Given the description of an element on the screen output the (x, y) to click on. 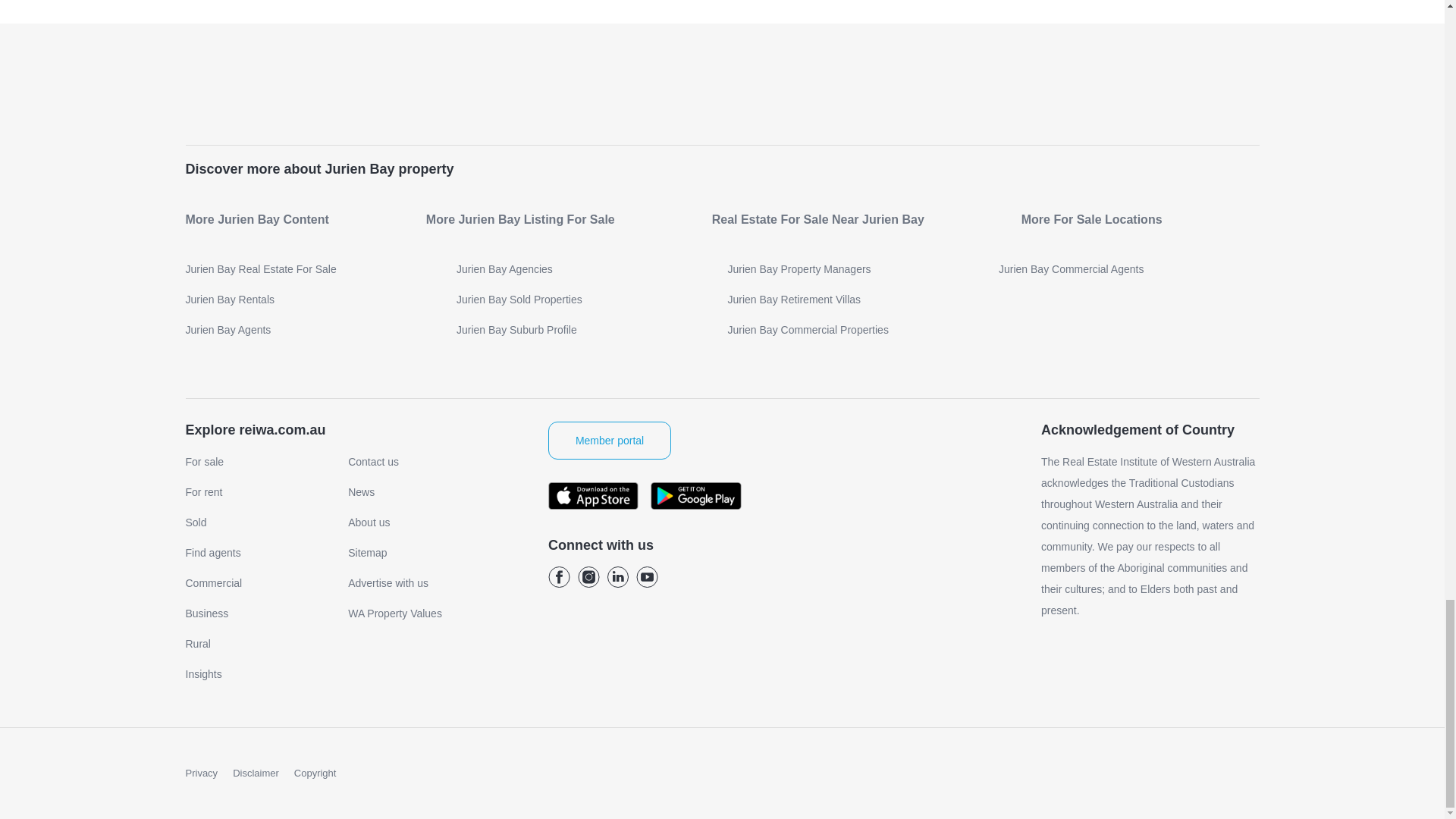
Real Estate For Sale Near Jurien Bay (817, 219)
Jurien Bay Real Estate For Sale (314, 268)
More Jurien Bay Content (256, 219)
More For Sale Locations (1091, 219)
Jurien Bay Rentals (314, 299)
More Jurien Bay Listing For Sale (520, 219)
